Given the description of an element on the screen output the (x, y) to click on. 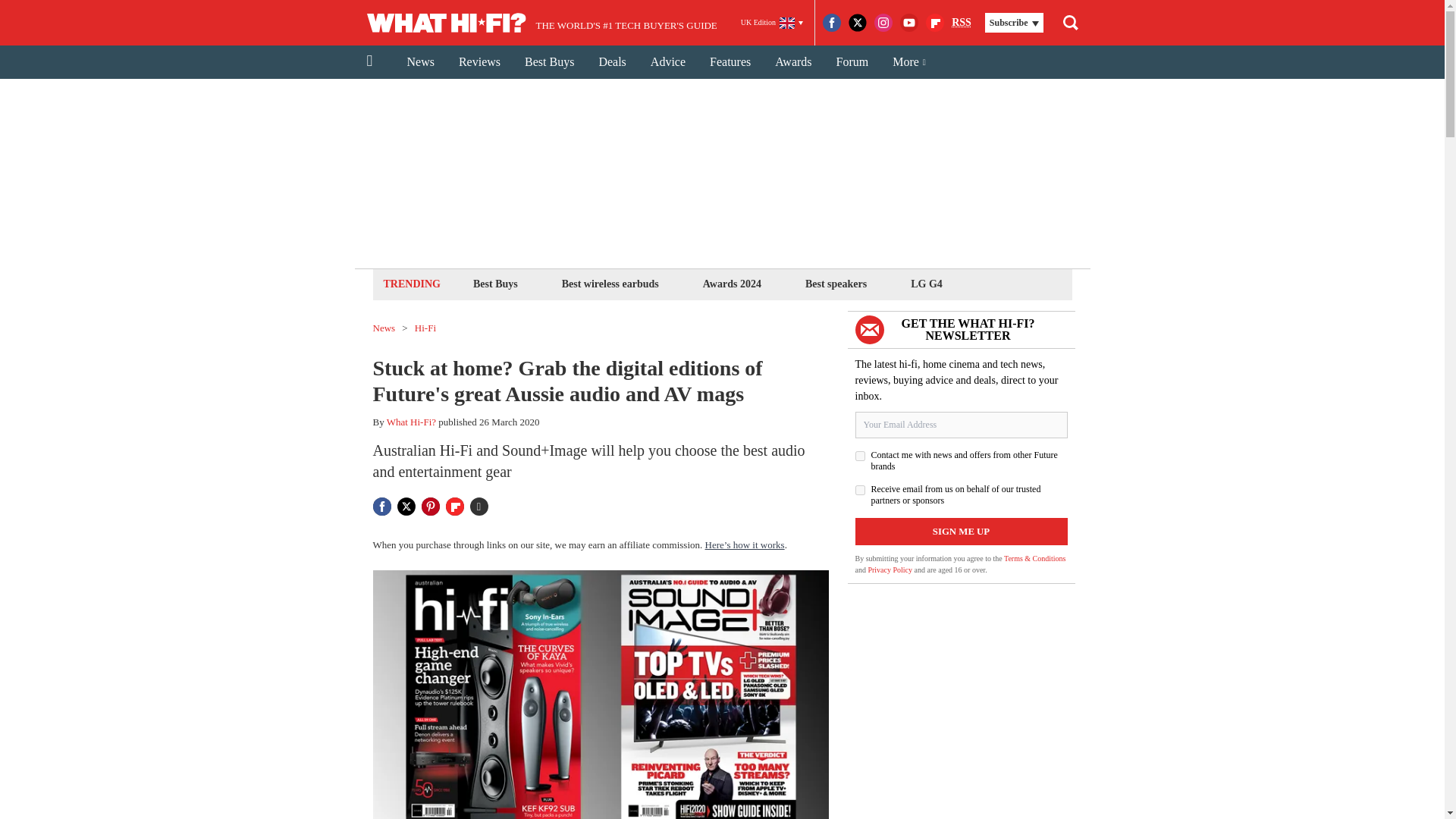
Really Simple Syndication (961, 21)
on (860, 456)
Advice (668, 61)
RSS (961, 22)
Best speakers (835, 283)
Reviews (479, 61)
Best Buys (549, 61)
Best wireless earbuds (609, 283)
LG G4 (926, 283)
Deals (611, 61)
